Given the description of an element on the screen output the (x, y) to click on. 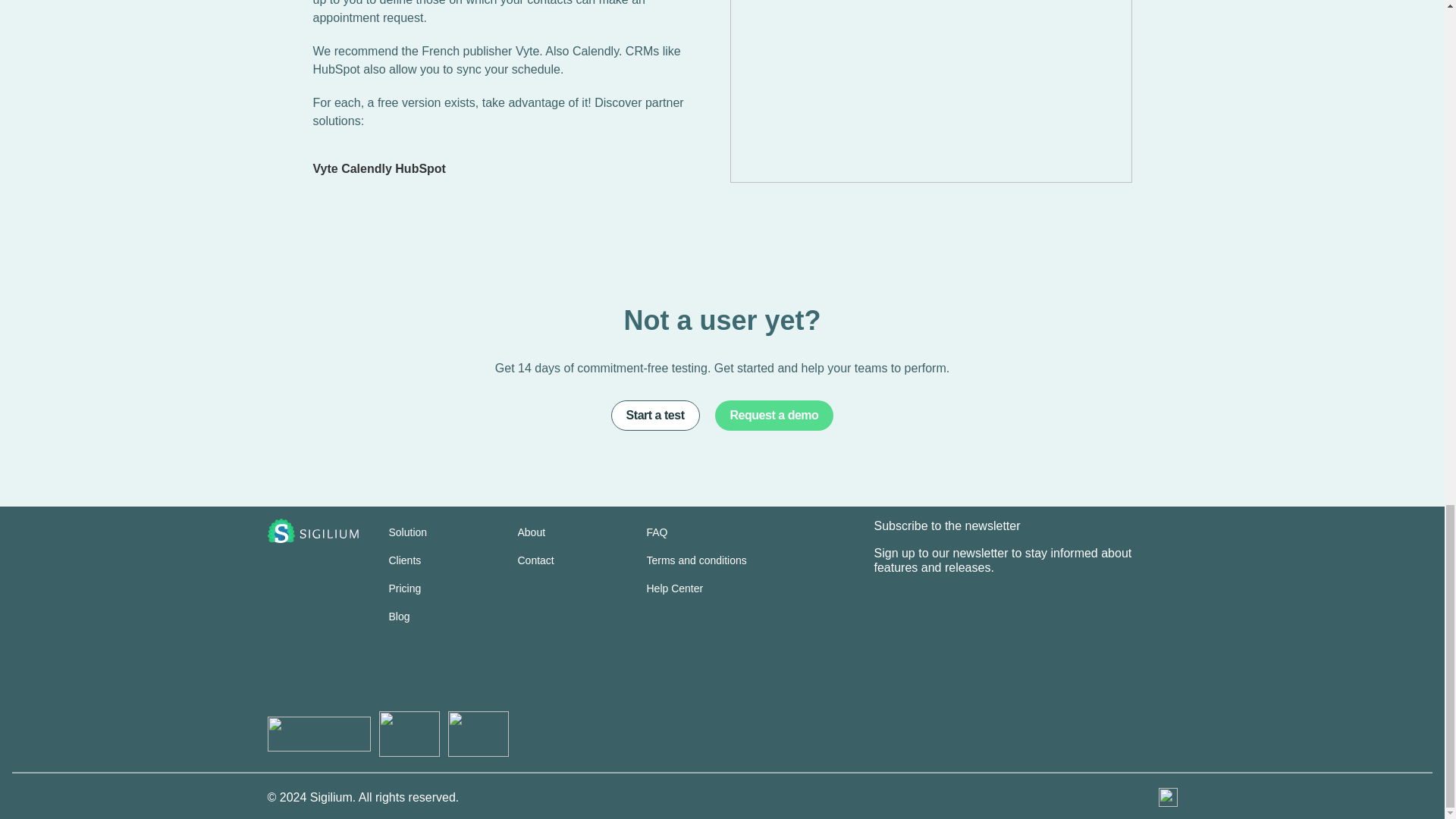
Help Center (674, 588)
Vyte (325, 168)
Request a demo (774, 415)
Start a test (655, 415)
Terms and conditions (695, 560)
FAQ (656, 532)
Calendly (365, 168)
About (530, 532)
Solution (407, 532)
Pricing (404, 588)
